Given the description of an element on the screen output the (x, y) to click on. 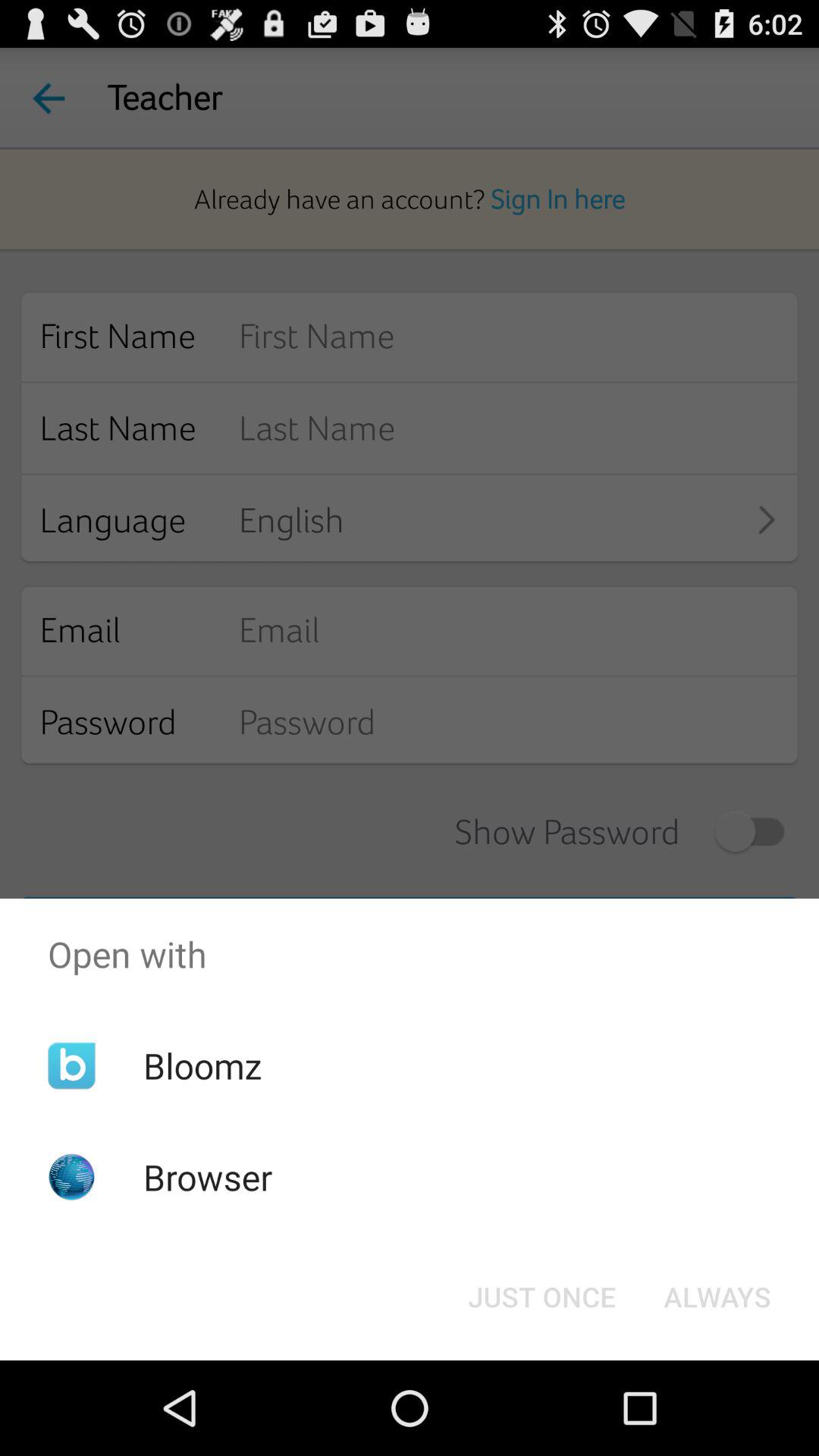
click app below the open with item (717, 1296)
